Given the description of an element on the screen output the (x, y) to click on. 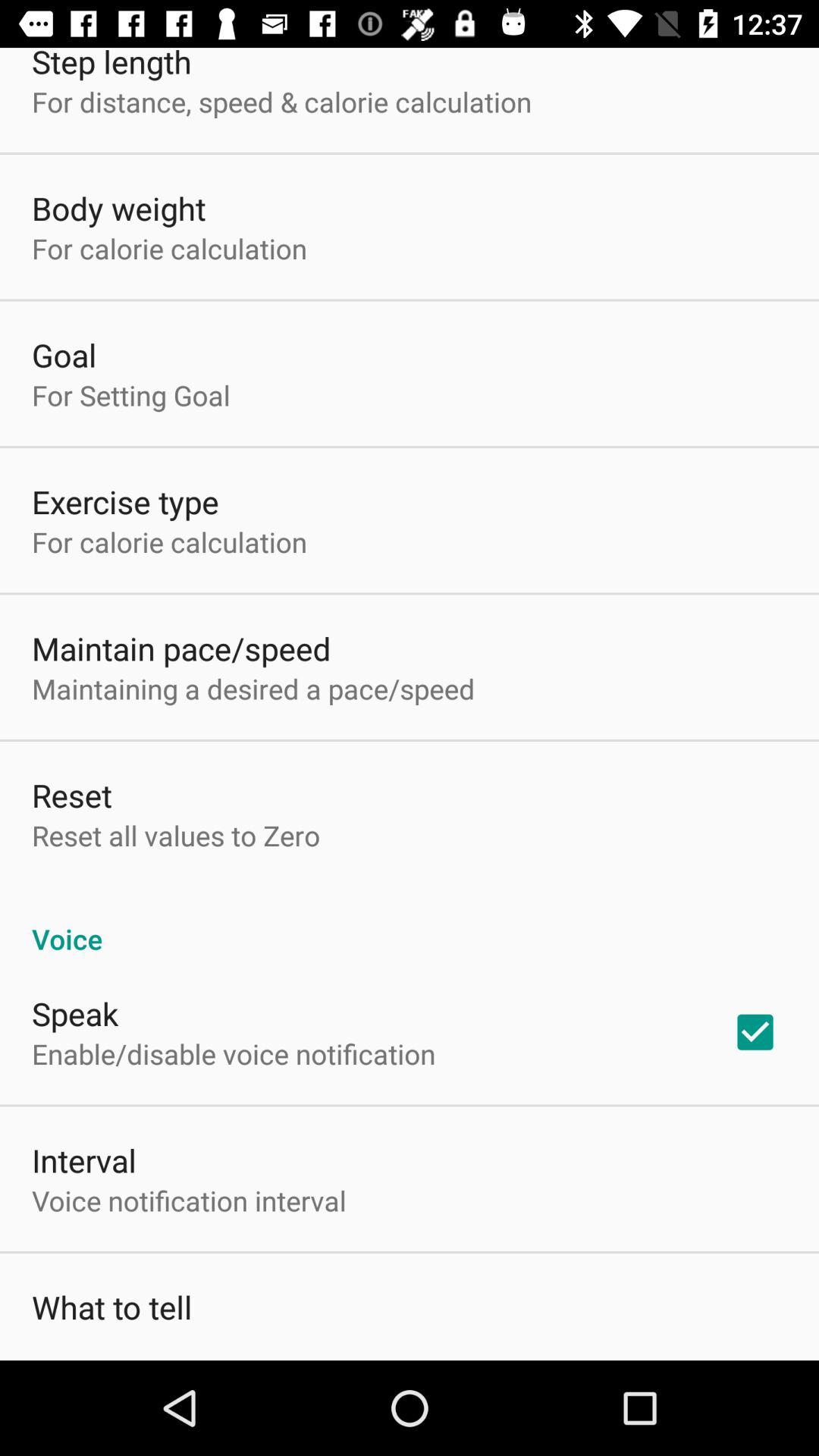
choose icon above for calorie calculation item (118, 207)
